Given the description of an element on the screen output the (x, y) to click on. 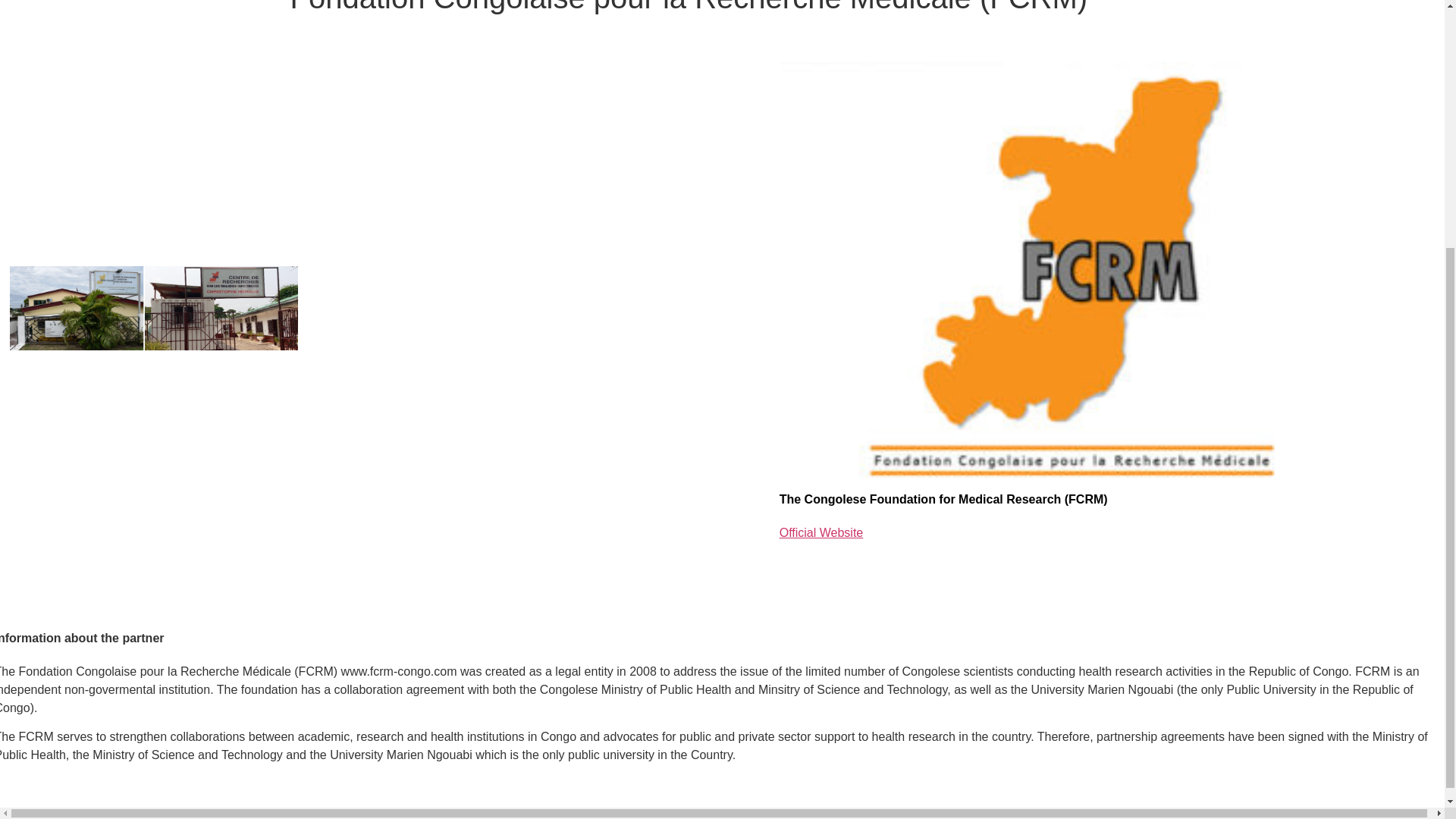
Official Website (820, 532)
